Given the description of an element on the screen output the (x, y) to click on. 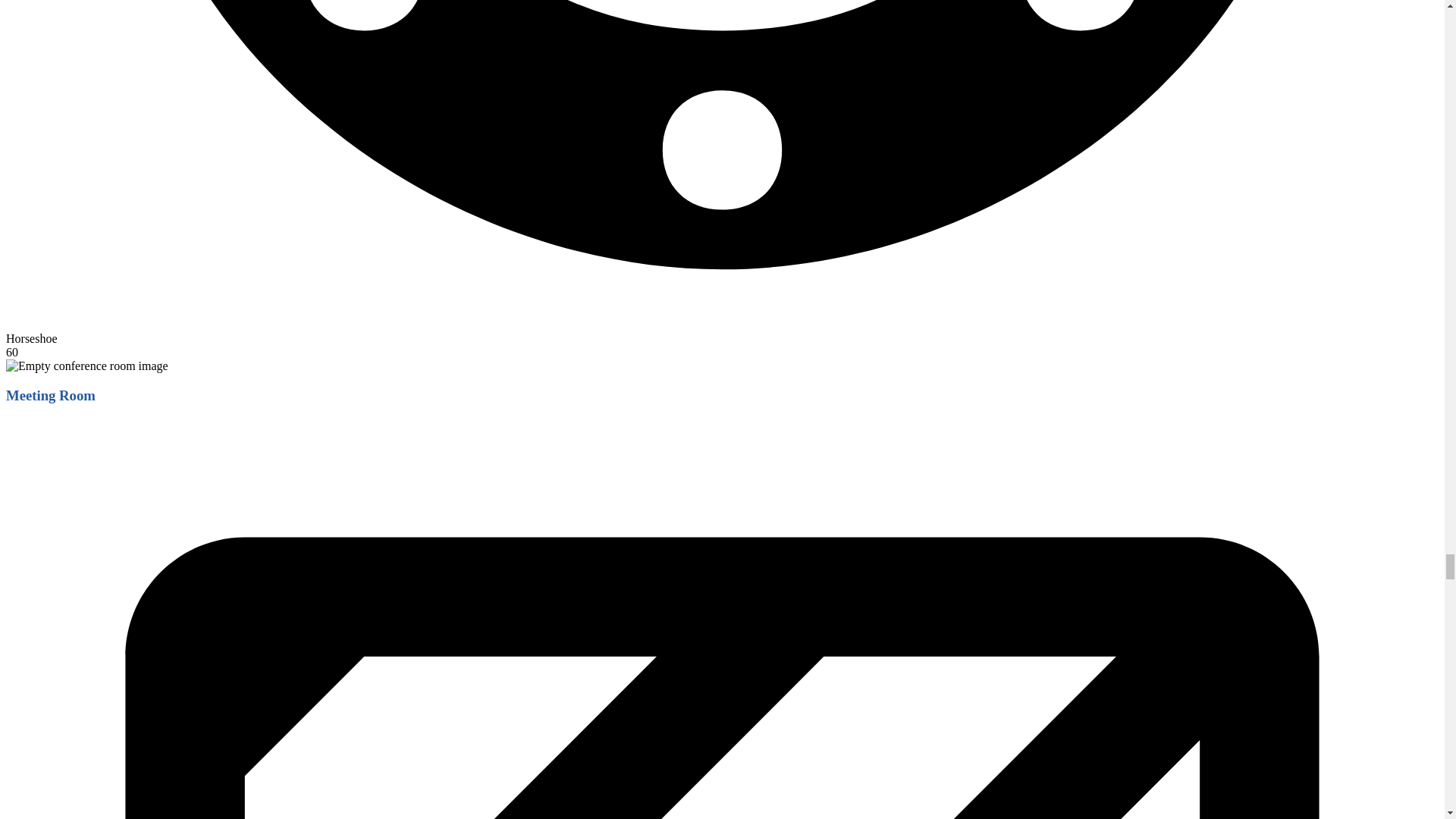
Empty conference room image (86, 366)
